Given the description of an element on the screen output the (x, y) to click on. 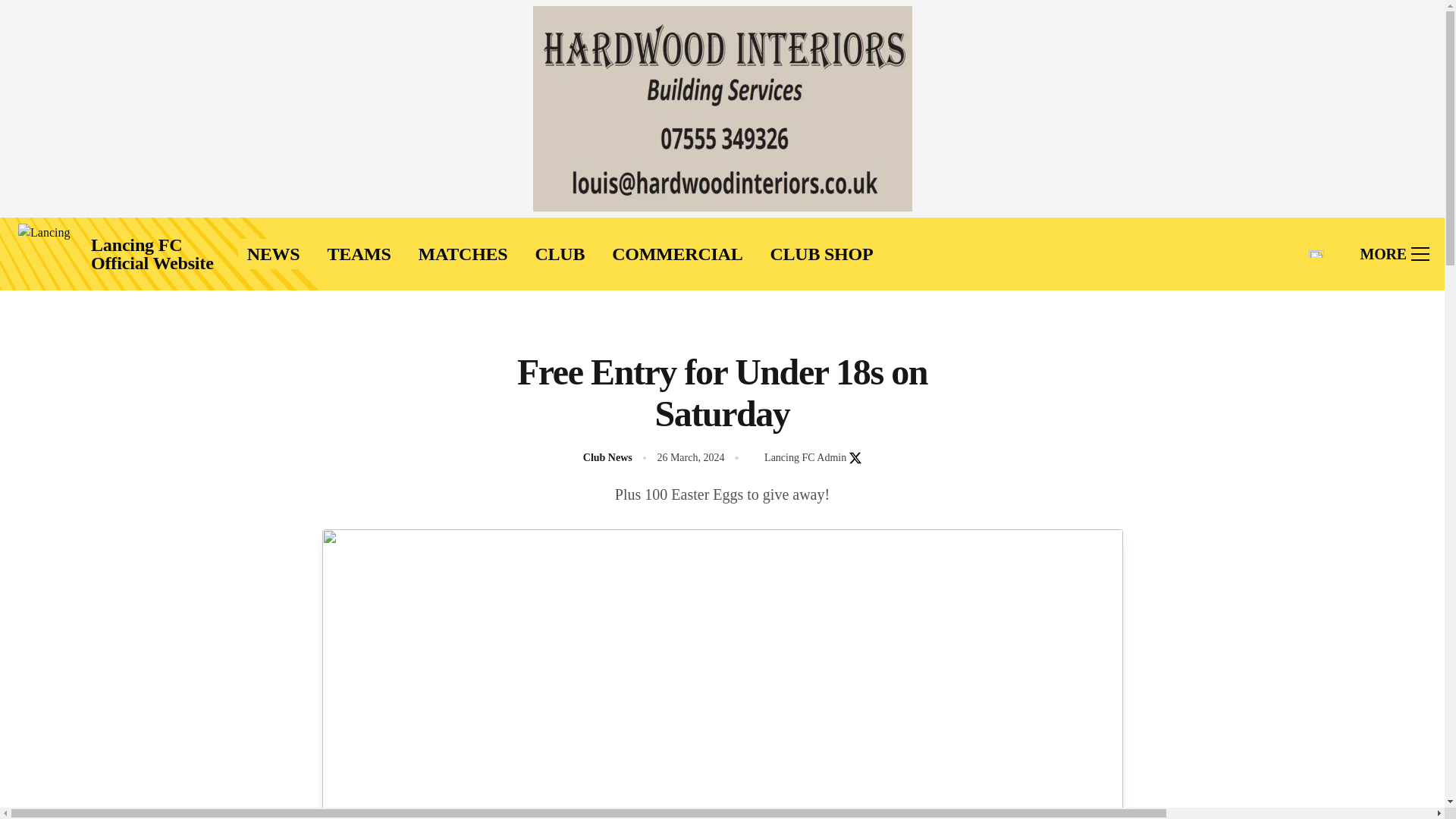
NEWS (273, 254)
TEAMS (357, 254)
MORE (1394, 253)
CLUB SHOP (821, 254)
CLUB (559, 254)
COMMERCIAL (676, 254)
MATCHES (462, 254)
